Given the description of an element on the screen output the (x, y) to click on. 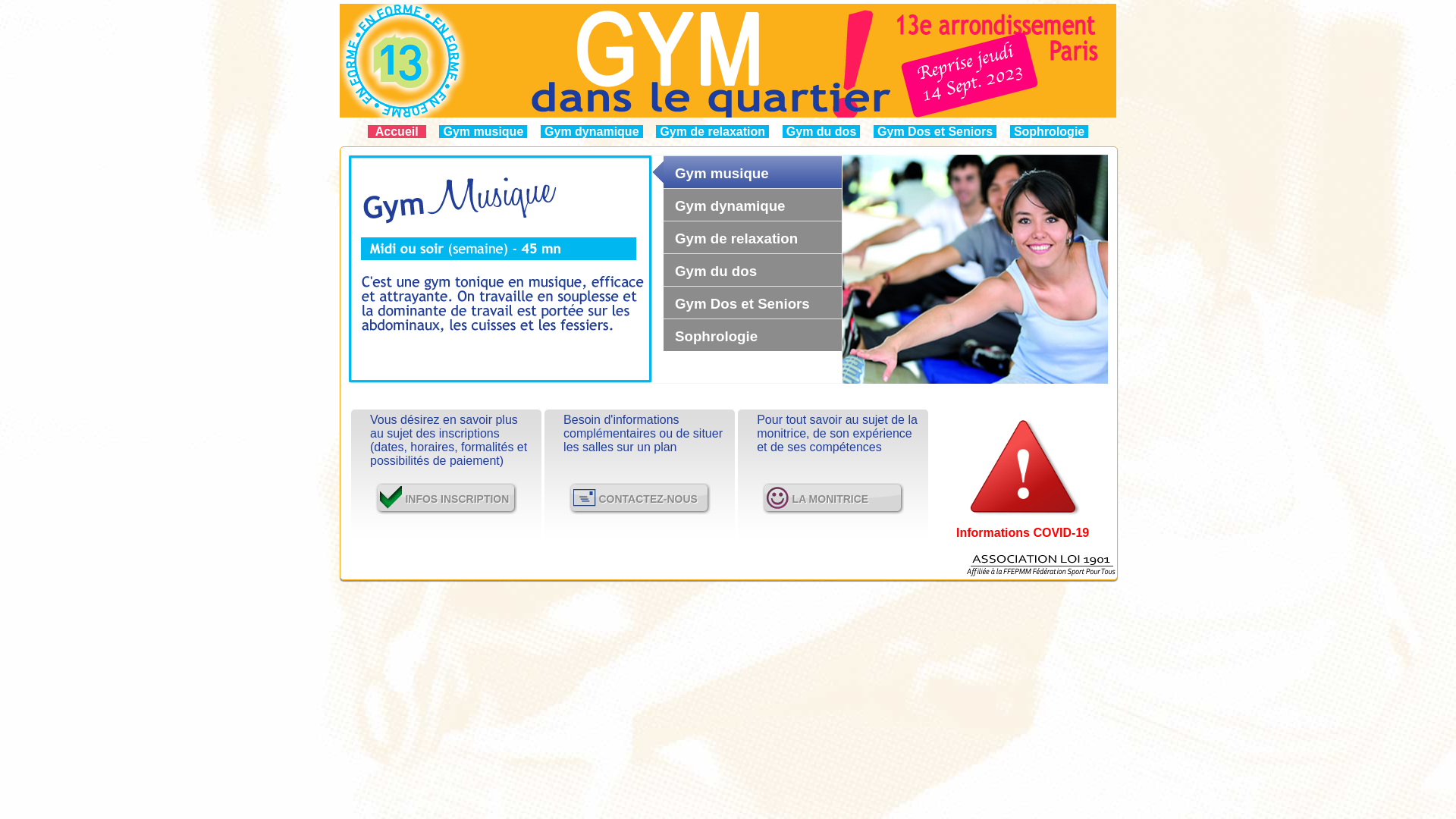
Accueil Element type: text (396, 131)
Informations COVID-19 Element type: text (1022, 525)
Gym du dos Element type: text (820, 131)
Gym musique Element type: text (483, 131)
Gym de relaxation Element type: text (711, 131)
Gym Dos et Seniors Element type: text (934, 131)
 INFOS INSCRIPTION Element type: text (446, 498)
 LA MONITRICE Element type: text (832, 498)
 CONTACTEZ-NOUS Element type: text (639, 498)
Gym musique Element type: hover (500, 268)
Gym dynamique Element type: text (591, 131)
Sophrologie Element type: text (1049, 131)
